Given the description of an element on the screen output the (x, y) to click on. 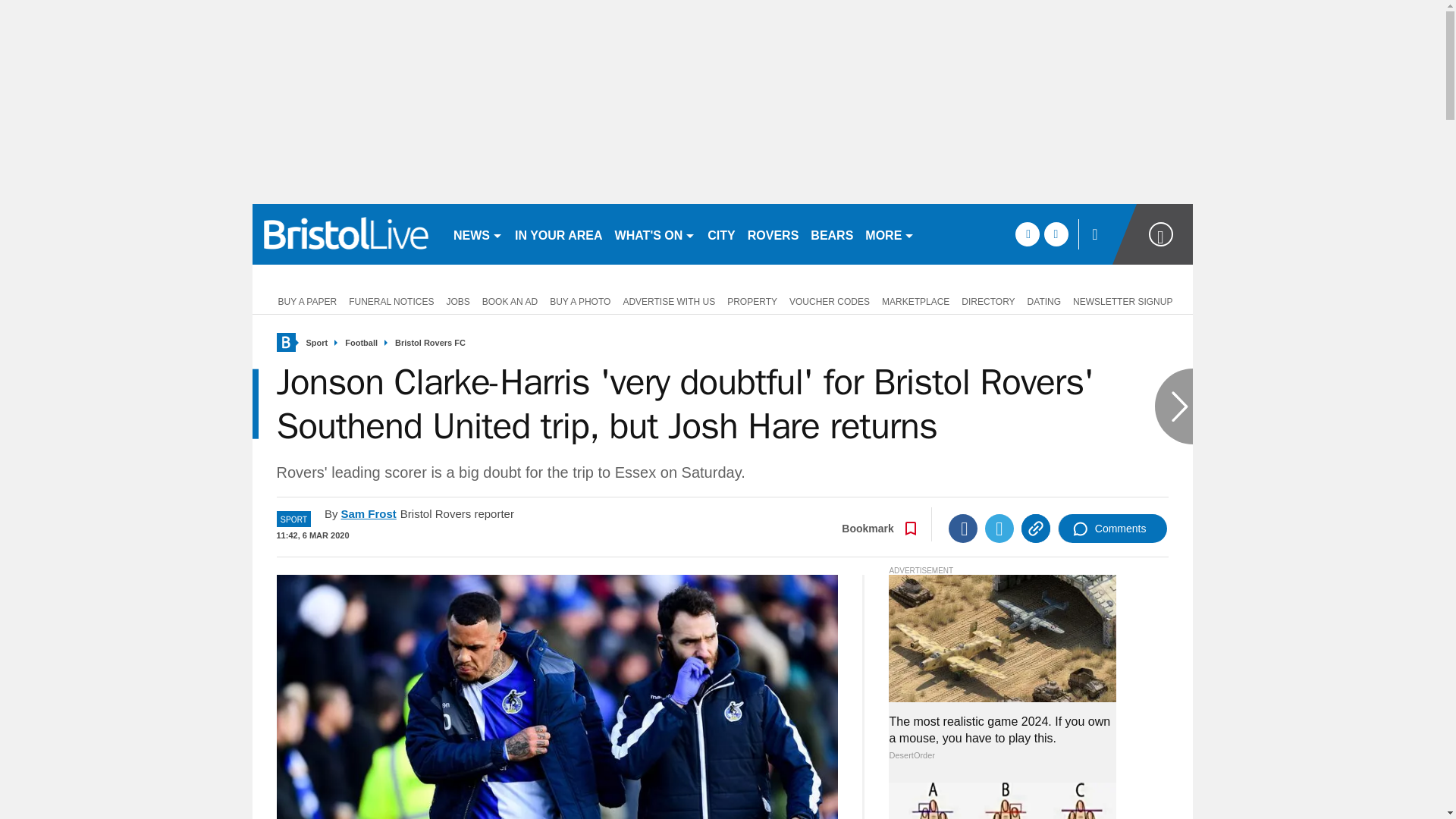
WHAT'S ON (654, 233)
Comments (1112, 528)
IN YOUR AREA (558, 233)
Twitter (999, 528)
Facebook (962, 528)
bristolpost (345, 233)
facebook (1026, 233)
twitter (1055, 233)
NEWS (477, 233)
BEARS (832, 233)
MORE (889, 233)
ROVERS (773, 233)
